Given the description of an element on the screen output the (x, y) to click on. 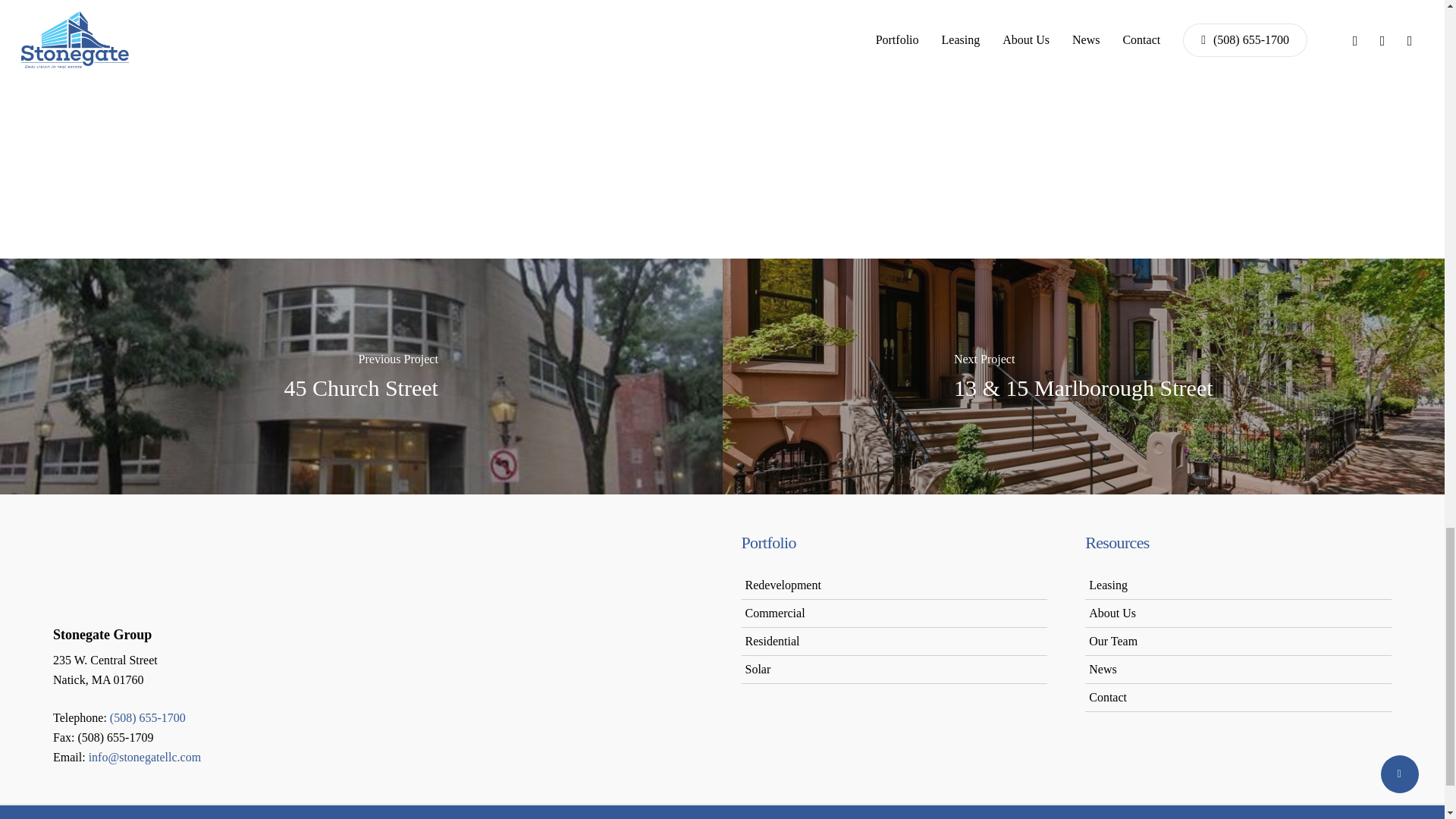
Leasing (1107, 584)
Our Team (1113, 640)
Contact (1107, 697)
News (1102, 668)
About Us (1112, 612)
Residential (771, 640)
Redevelopment (782, 584)
Commercial (774, 612)
Solar (757, 668)
